Given the description of an element on the screen output the (x, y) to click on. 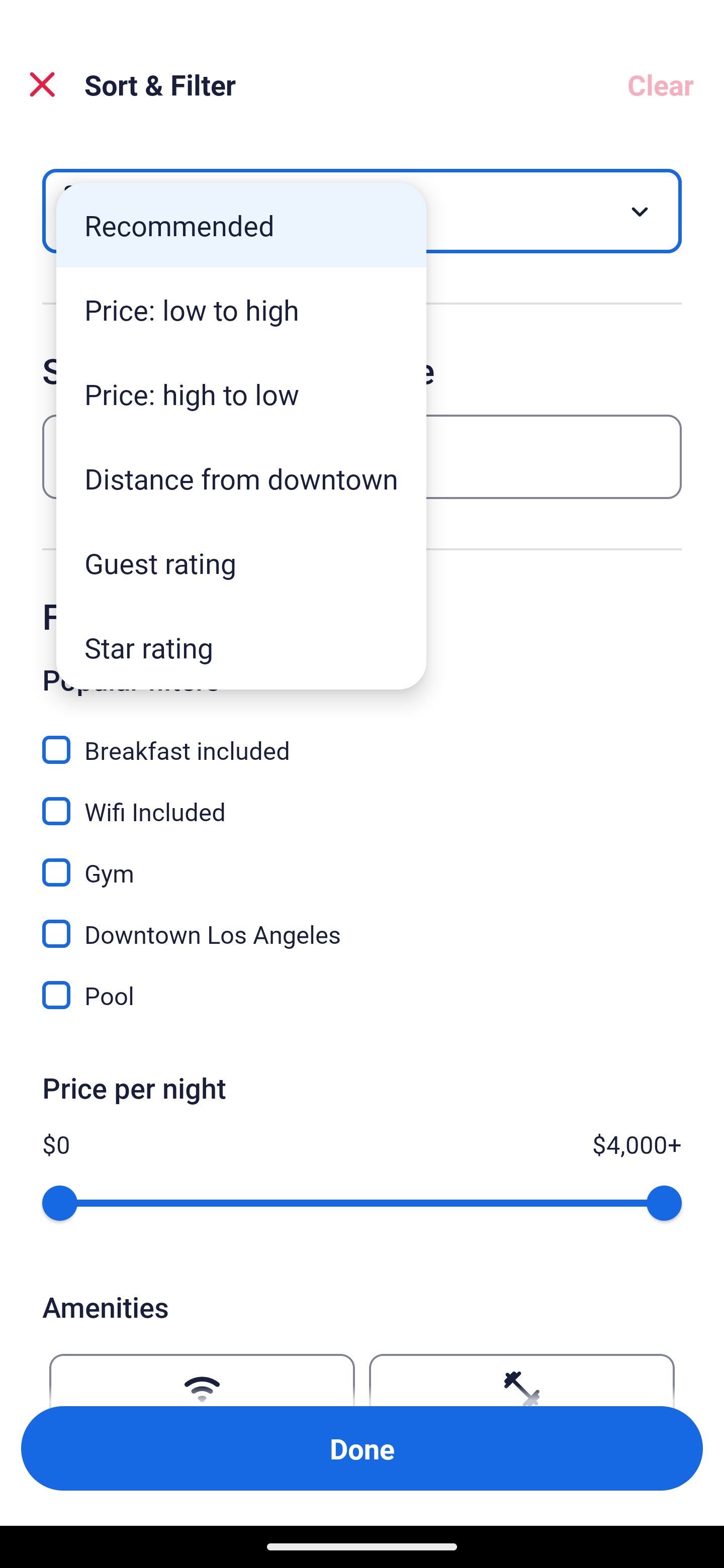
Price: low to high (241, 309)
Price: high to low (241, 393)
Distance from downtown (241, 477)
Guest rating (241, 562)
Star rating (241, 647)
